Given the description of an element on the screen output the (x, y) to click on. 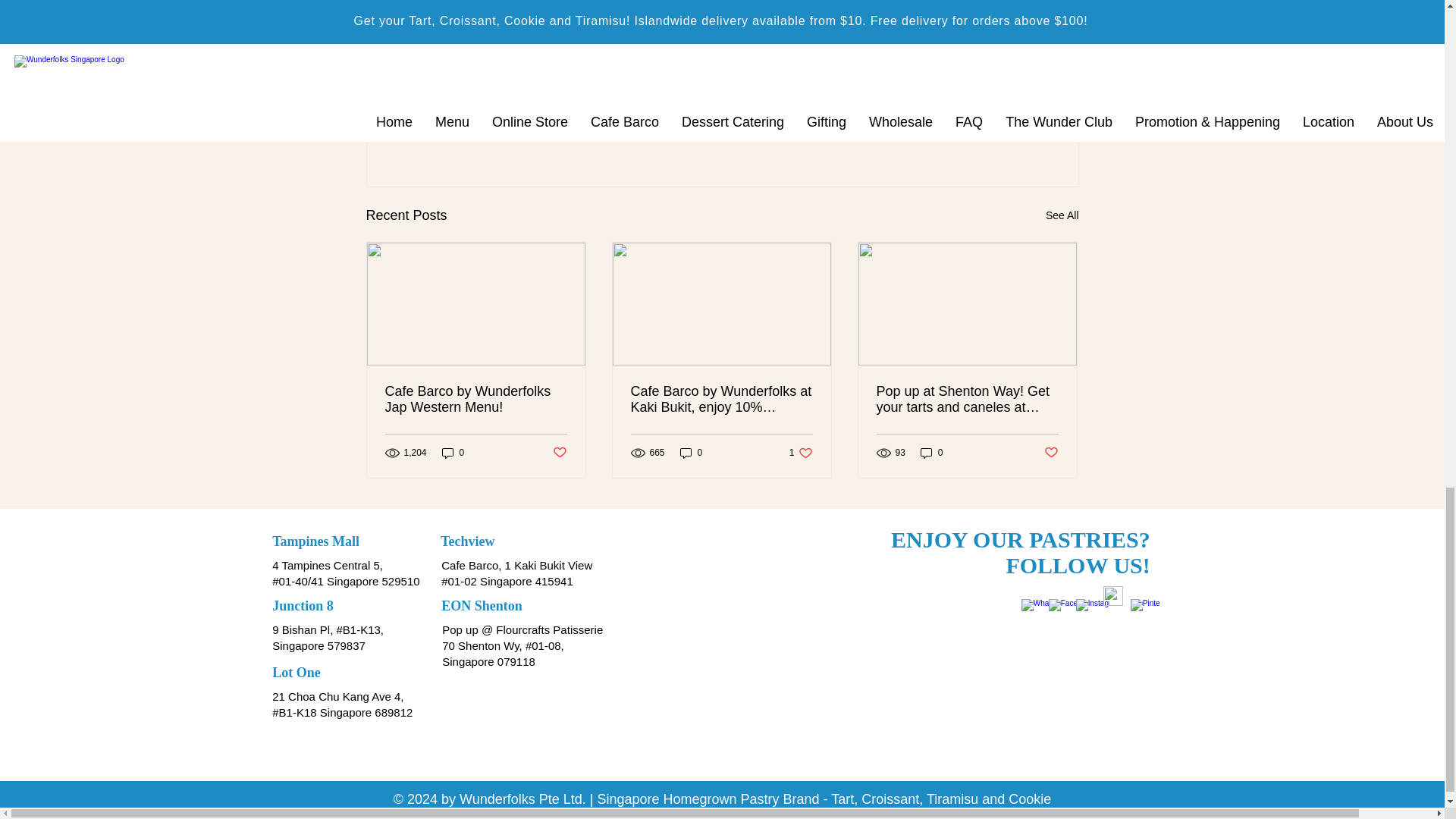
See All (1061, 215)
0 (453, 452)
Cafe Barco by Wunderfolks Jap Western Menu! (476, 399)
Post not marked as liked (995, 132)
Post not marked as liked (558, 453)
0 (800, 452)
